Given the description of an element on the screen output the (x, y) to click on. 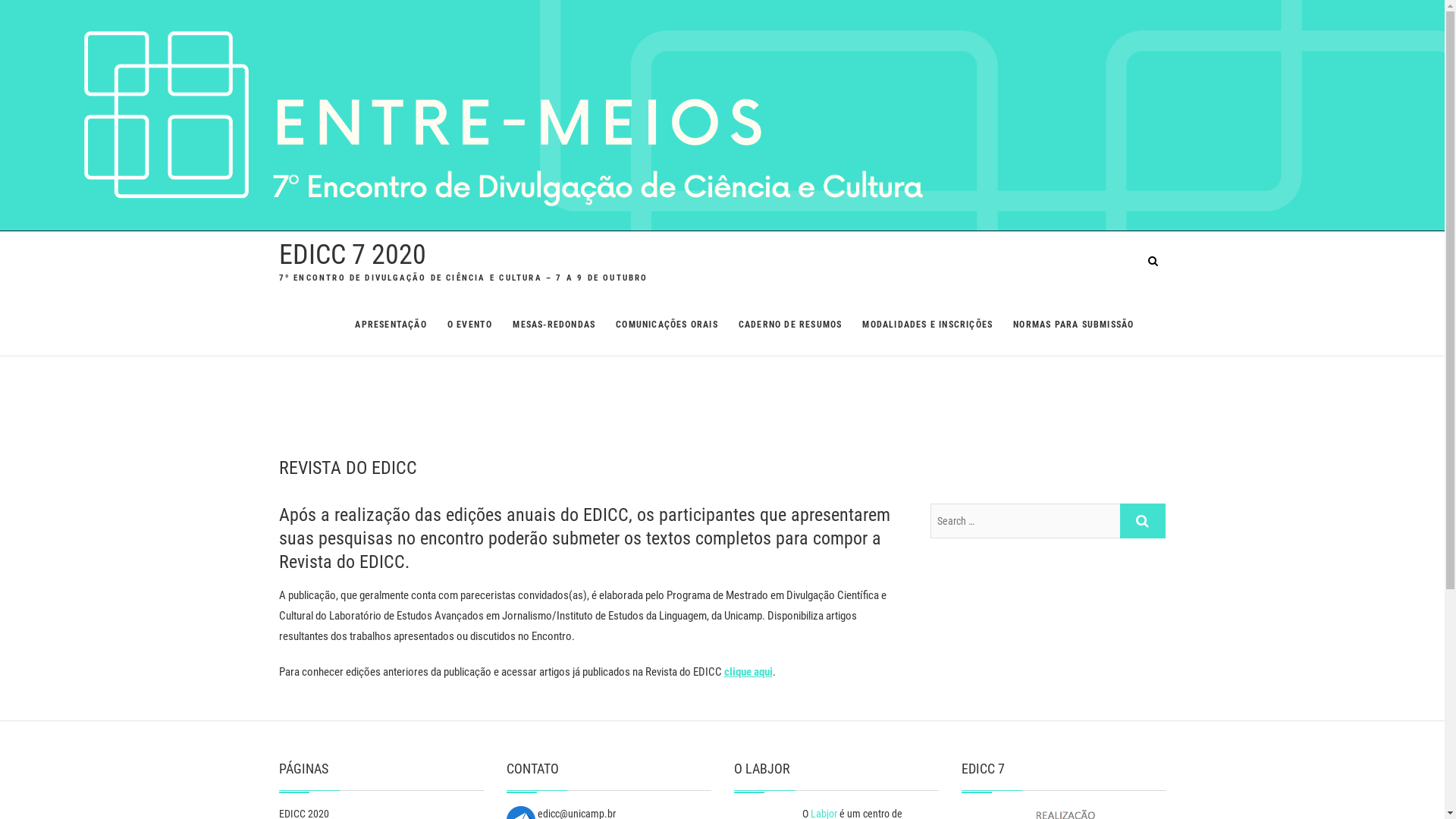
O EVENTO Element type: text (470, 324)
clique aqui Element type: text (747, 671)
EDICC 7 2020 Element type: text (352, 254)
CADERNO DE RESUMOS Element type: text (790, 324)
MESAS-REDONDAS Element type: text (553, 324)
